Given the description of an element on the screen output the (x, y) to click on. 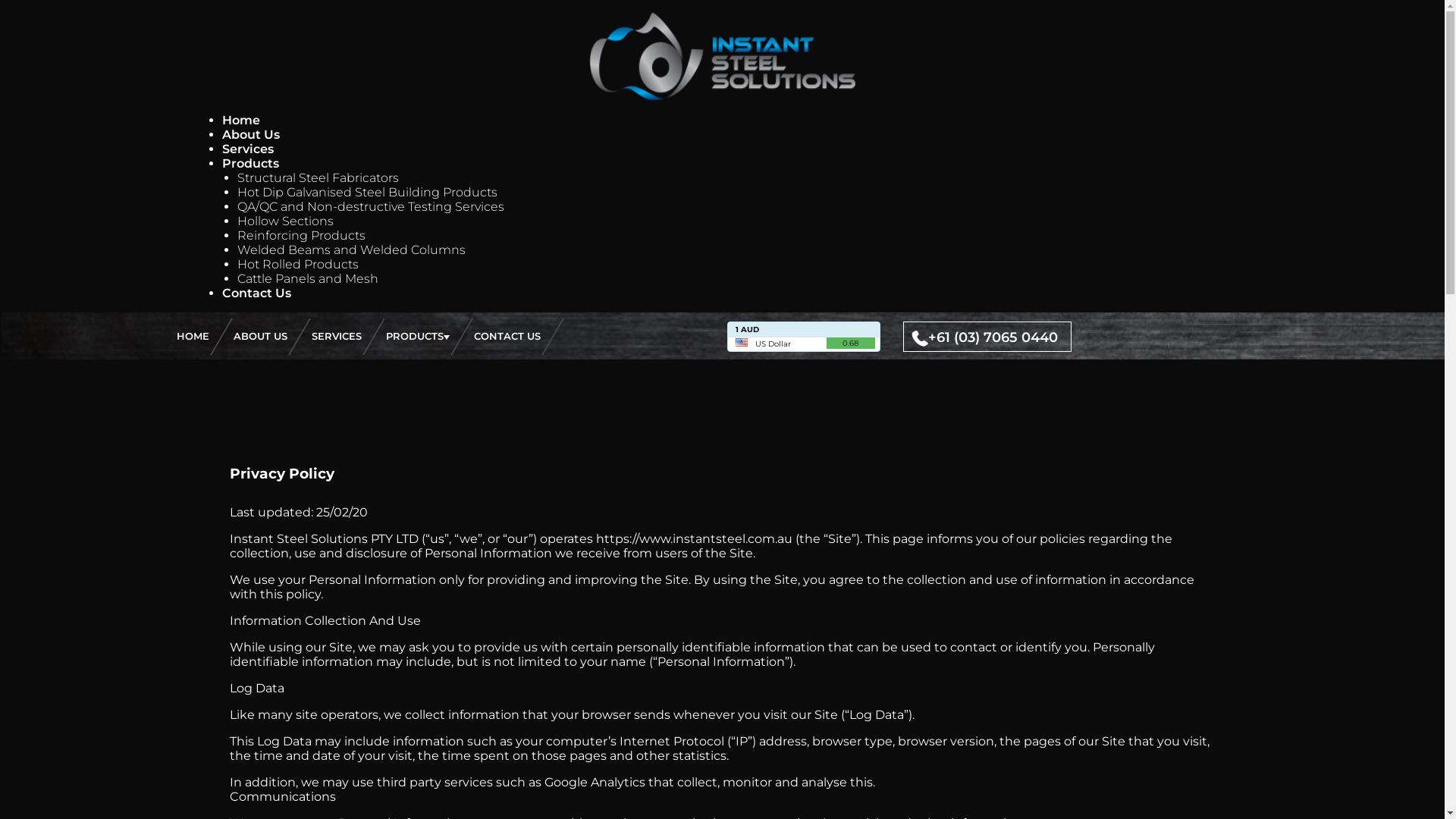
Products Element type: text (249, 163)
Contact Us Element type: text (255, 292)
Structural Steel Fabricators Element type: text (317, 177)
Home Element type: text (240, 119)
+61 (03) 7065 0440 Element type: text (980, 337)
Hot Dip Galvanised Steel Building Products Element type: text (366, 192)
Hot Rolled Products Element type: text (296, 264)
PRODUCTS Element type: text (416, 335)
Cattle Panels and Mesh Element type: text (306, 278)
CONTACT US Element type: text (506, 335)
HOME Element type: text (191, 335)
QA/QC and Non-destructive Testing Services Element type: text (369, 206)
About Us Element type: text (250, 134)
ABOUT US Element type: text (260, 335)
Welded Beams and Welded Columns Element type: text (350, 249)
Hollow Sections Element type: text (284, 220)
Services Element type: text (247, 148)
SERVICES Element type: text (335, 335)
Reinforcing Products Element type: text (300, 235)
